Given the description of an element on the screen output the (x, y) to click on. 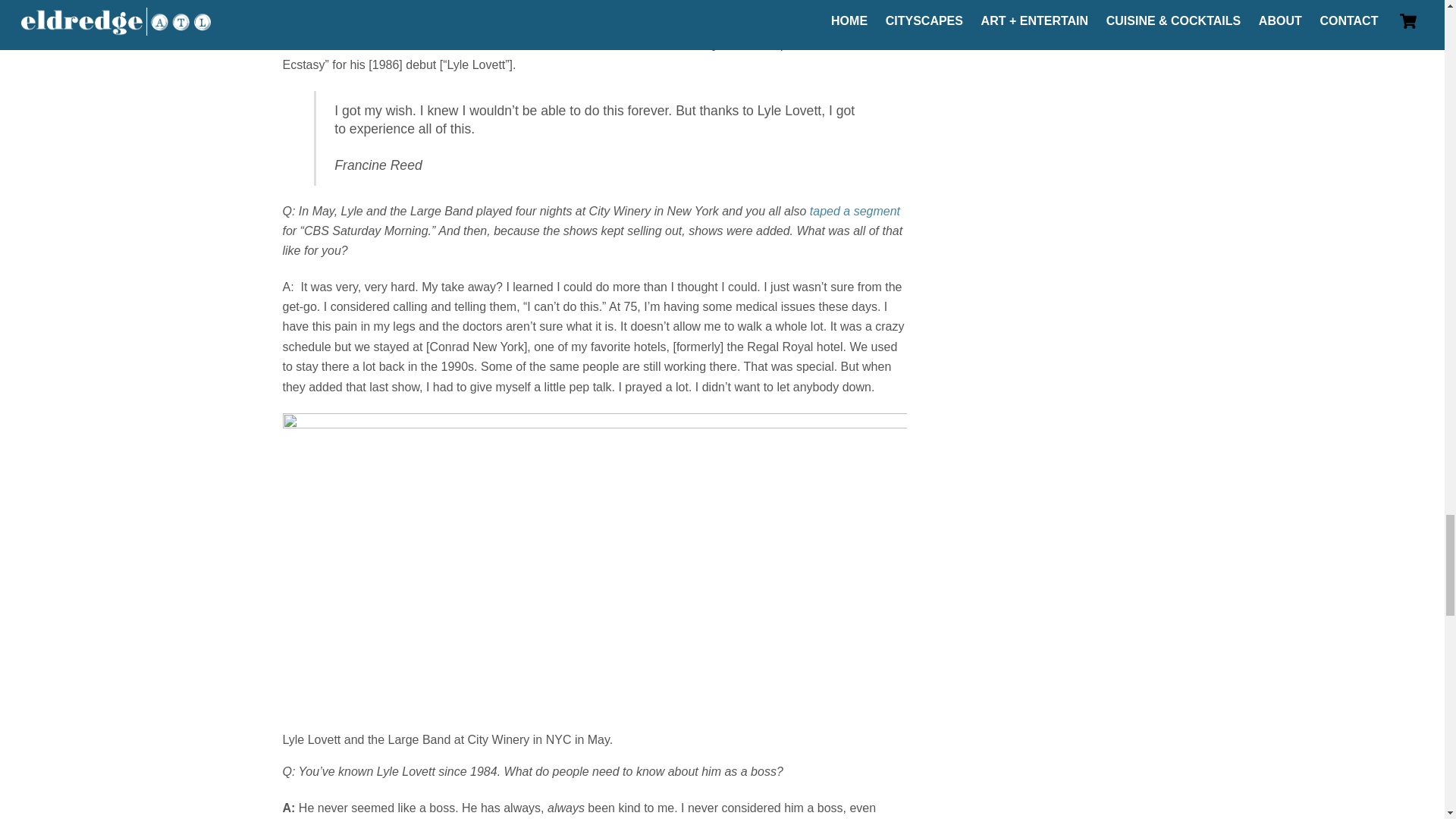
taped a segment (854, 210)
